Given the description of an element on the screen output the (x, y) to click on. 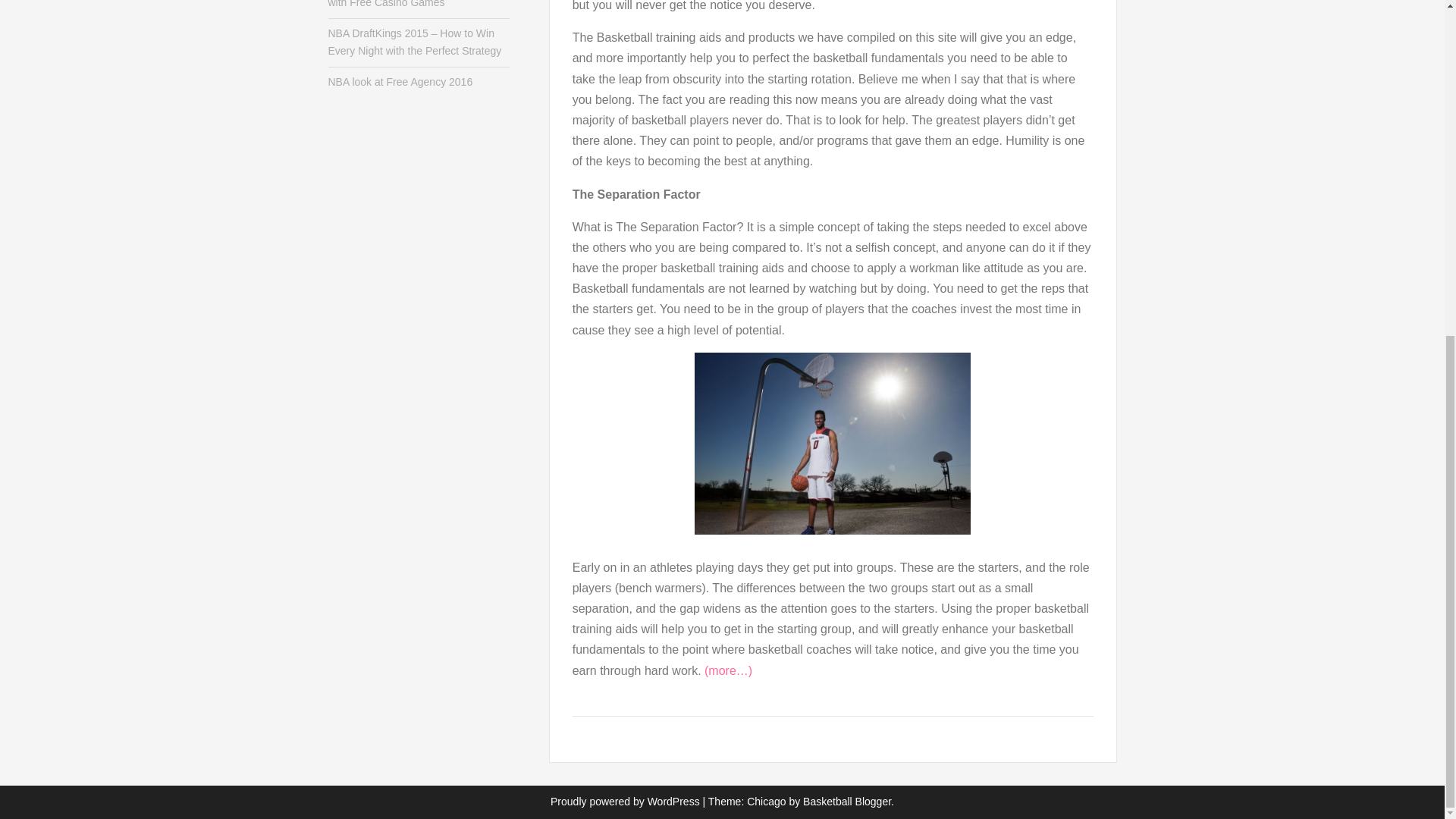
Proudly powered by WordPress (625, 801)
NBA look at Free Agency 2016 (399, 81)
Basketball Blogger (847, 801)
Wind Down From Basketball Thrills with Free Casino Games (410, 4)
